Given the description of an element on the screen output the (x, y) to click on. 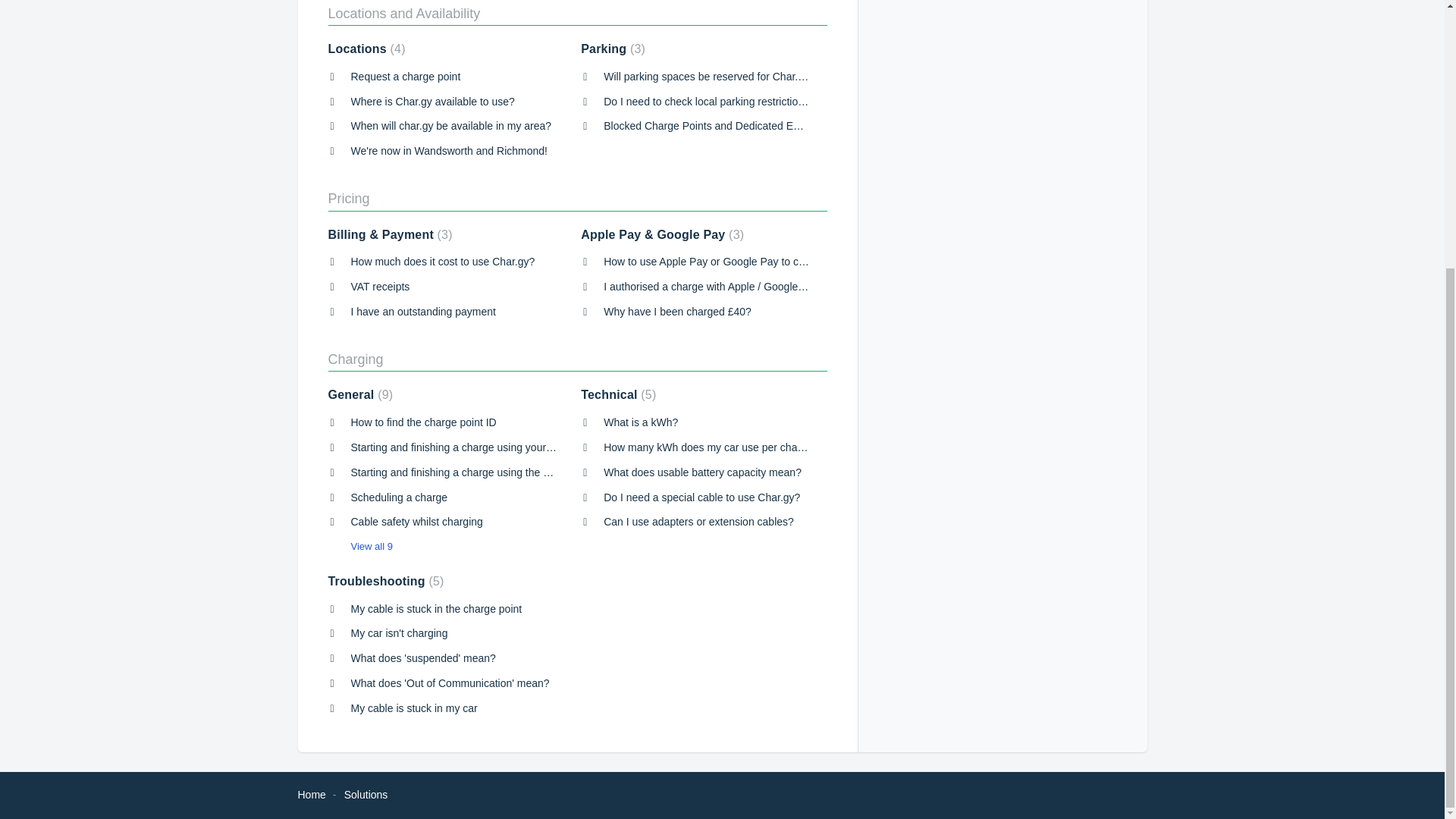
Parking (612, 48)
Parking 3 (612, 48)
Blocked Charge Points and Dedicated EV Bays (715, 125)
How much does it cost to use Char.gy? (442, 261)
We're now in Wandsworth and Richmond! (448, 150)
Charging (354, 359)
Technical (618, 394)
Locations (365, 48)
Do I need to check local parking restrictions? (709, 101)
Troubleshooting (385, 581)
General 9 (360, 394)
VAT receipts (379, 286)
Locations 4 (365, 48)
How to use Apple Pay or Google Pay to charge your car (735, 261)
Request a charge point (405, 76)
